Given the description of an element on the screen output the (x, y) to click on. 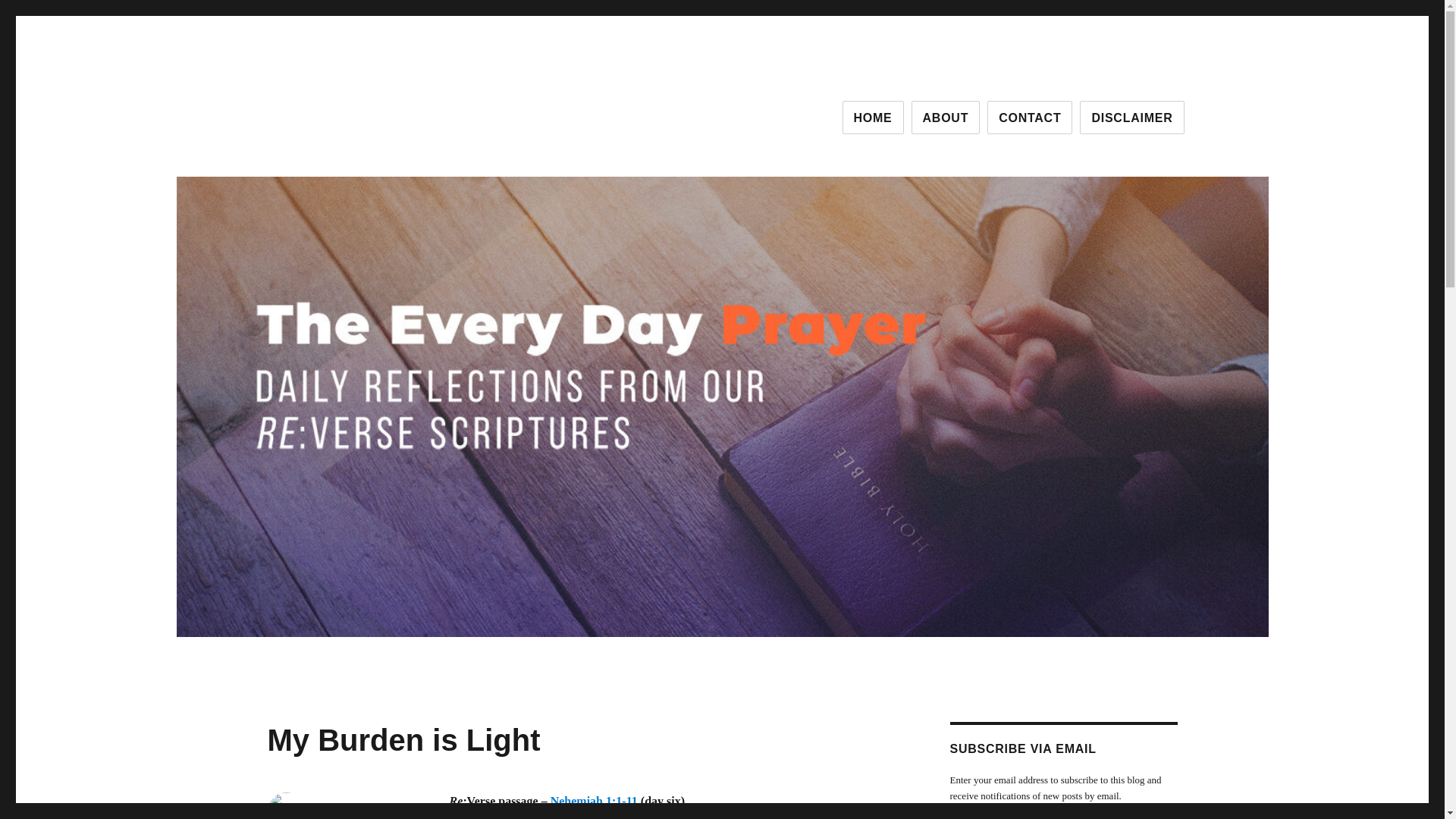
CONTACT (1029, 117)
The Everyday Prayer (371, 114)
Nehemiah 1:1-11 (593, 800)
ABOUT (945, 117)
HOME (873, 117)
DISCLAIMER (1131, 117)
